Given the description of an element on the screen output the (x, y) to click on. 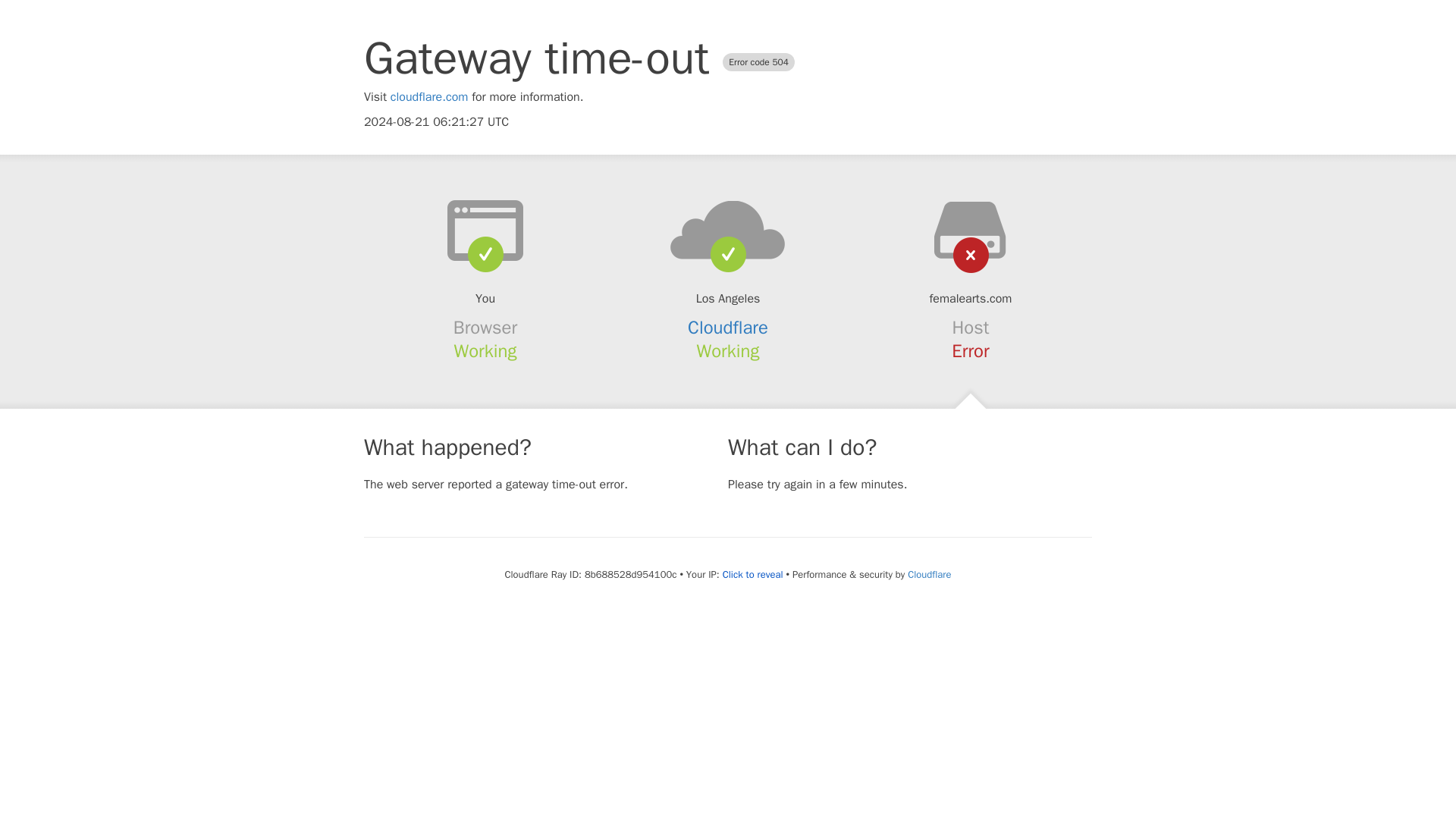
Click to reveal (752, 574)
cloudflare.com (429, 96)
Cloudflare (727, 327)
Cloudflare (928, 574)
